Given the description of an element on the screen output the (x, y) to click on. 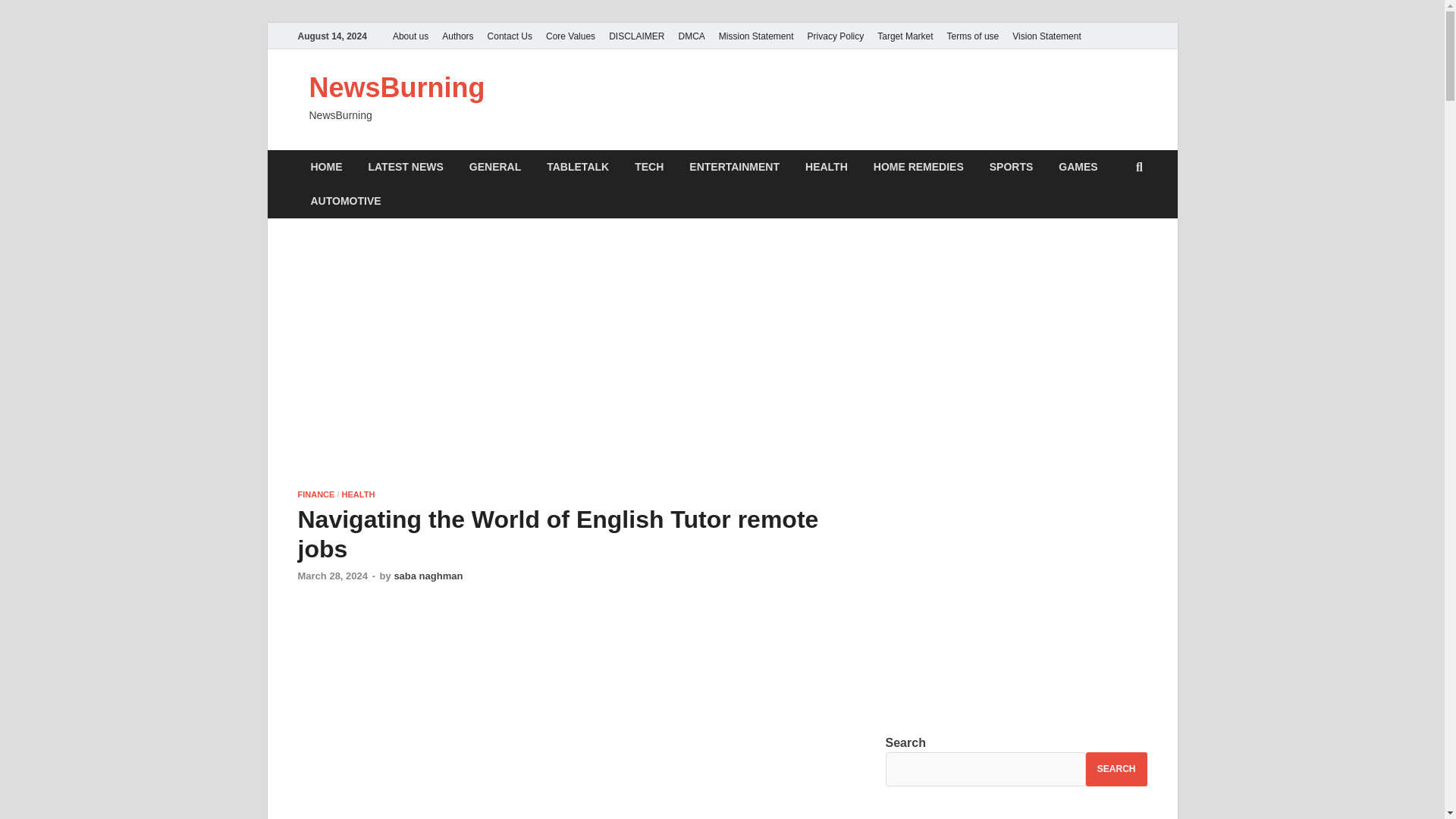
Privacy Policy (835, 35)
HOME (326, 166)
Mission Statement (755, 35)
TECH (649, 166)
HOME REMEDIES (918, 166)
saba naghman (428, 575)
Terms of use (973, 35)
Core Values (570, 35)
HEALTH (826, 166)
NewsBurning (396, 87)
